Given the description of an element on the screen output the (x, y) to click on. 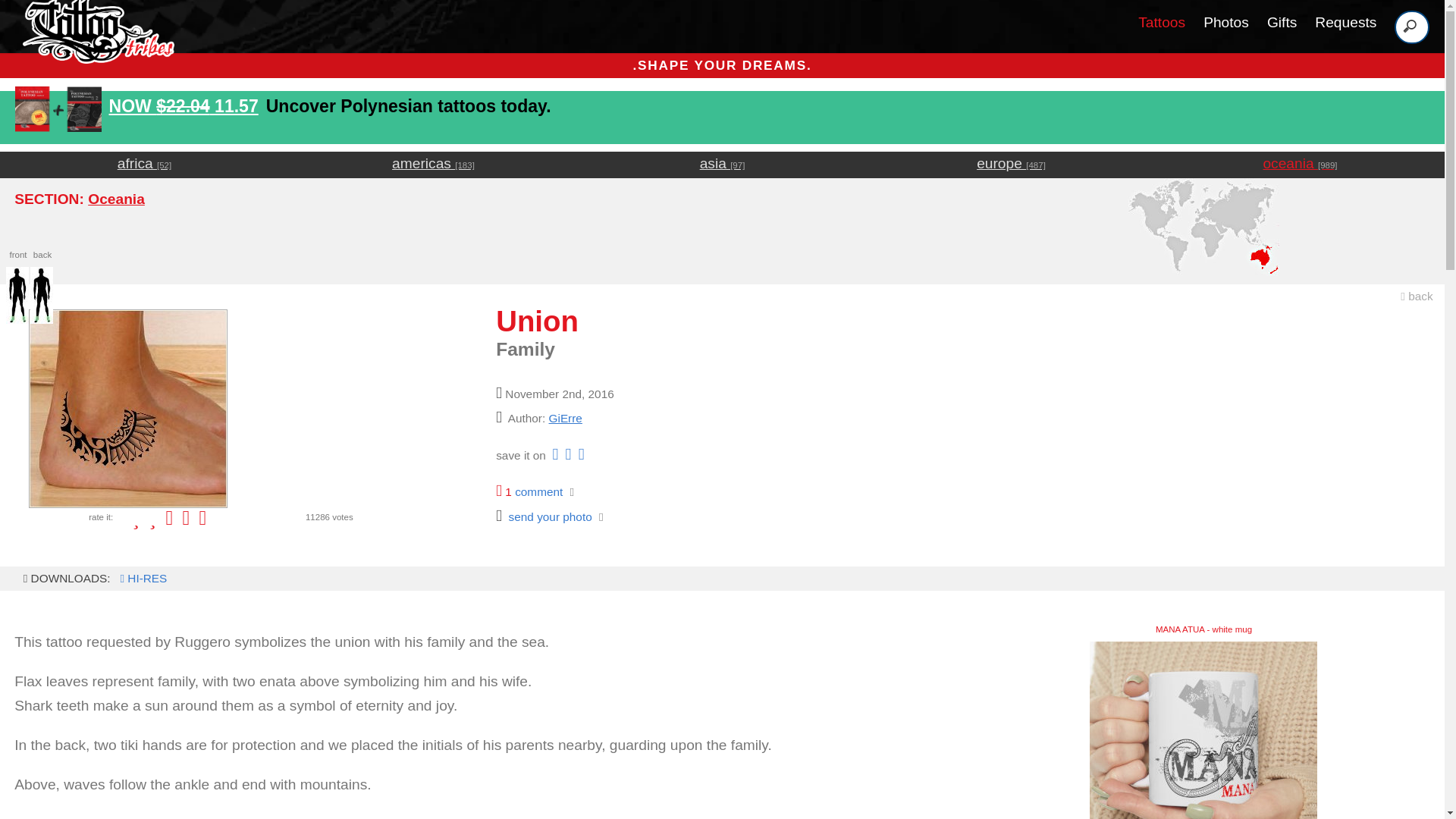
MANA ATUA - white mug (1202, 730)
Gifts (1281, 22)
  send your photo (544, 516)
Oceania (115, 198)
GiErre (565, 418)
Photos (1226, 22)
Read the comments on this tattoo (529, 491)
 1 comment (529, 491)
Requests (1344, 22)
  HI-RES (141, 577)
Tattoos (1202, 730)
Home (1161, 22)
